Given the description of an element on the screen output the (x, y) to click on. 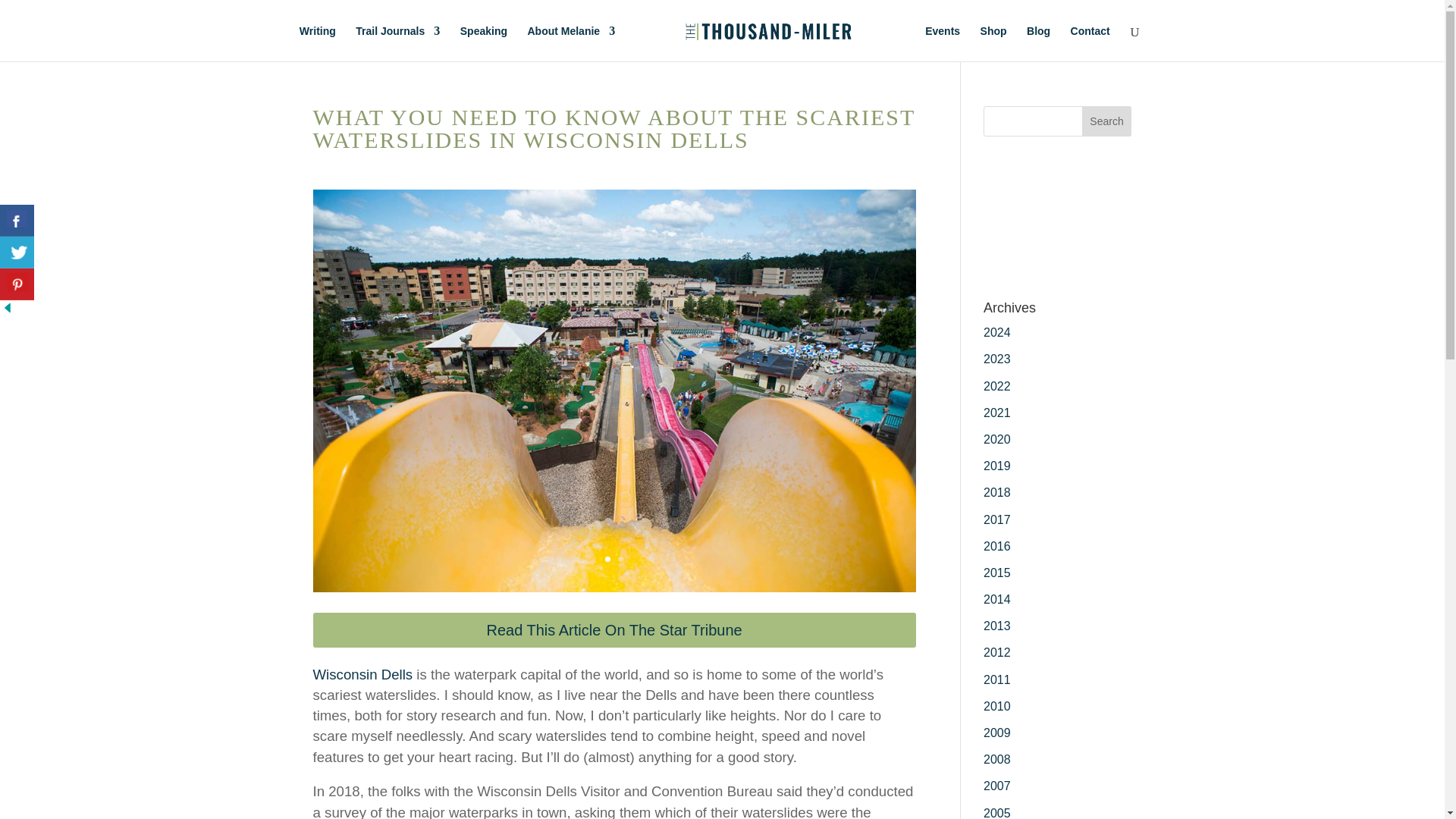
Hide Buttons (7, 310)
About Melanie (570, 43)
Trail Journals (397, 43)
Events (941, 43)
Share On Twitter (16, 252)
Speaking (483, 43)
Share On Pinterest (16, 284)
Search (1106, 121)
Dells-Waterslide-down (614, 591)
Writing (317, 43)
Contact (1089, 43)
Share On Facebook (16, 220)
